Given the description of an element on the screen output the (x, y) to click on. 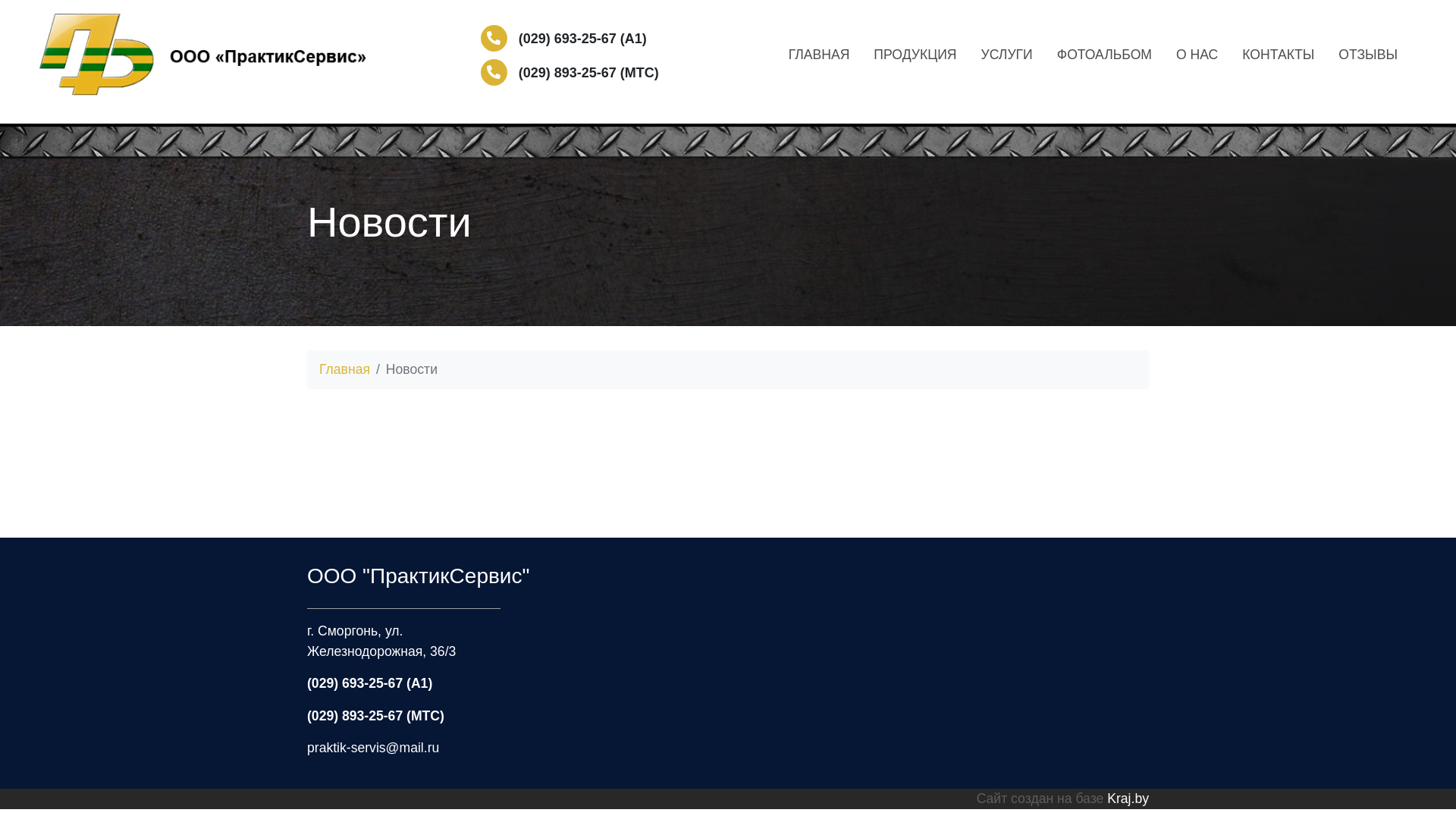
Kraj.by Element type: text (1127, 798)
praktik-servis@mail.ru Element type: text (373, 747)
